Given the description of an element on the screen output the (x, y) to click on. 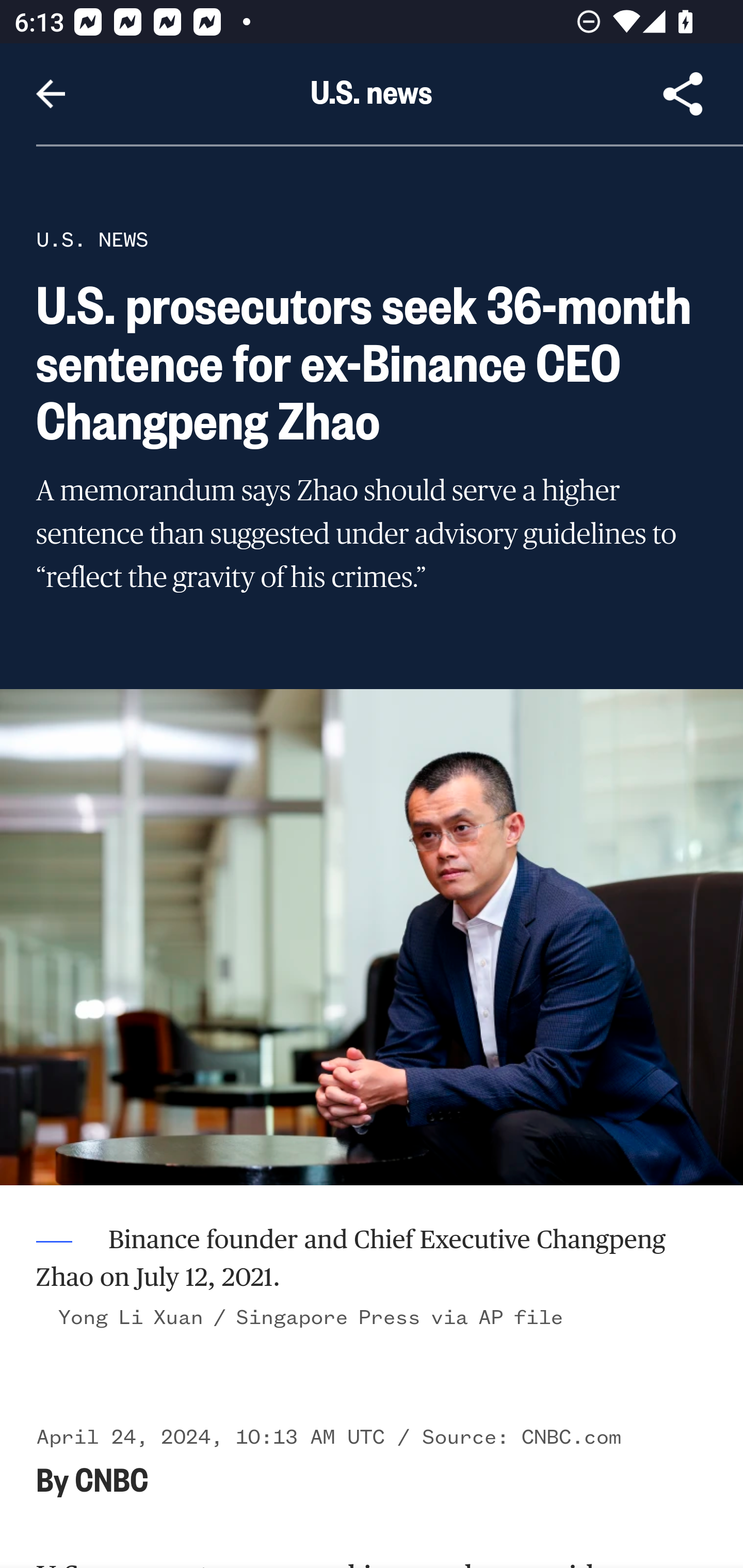
Navigate up (50, 93)
Share Article, button (683, 94)
